Given the description of an element on the screen output the (x, y) to click on. 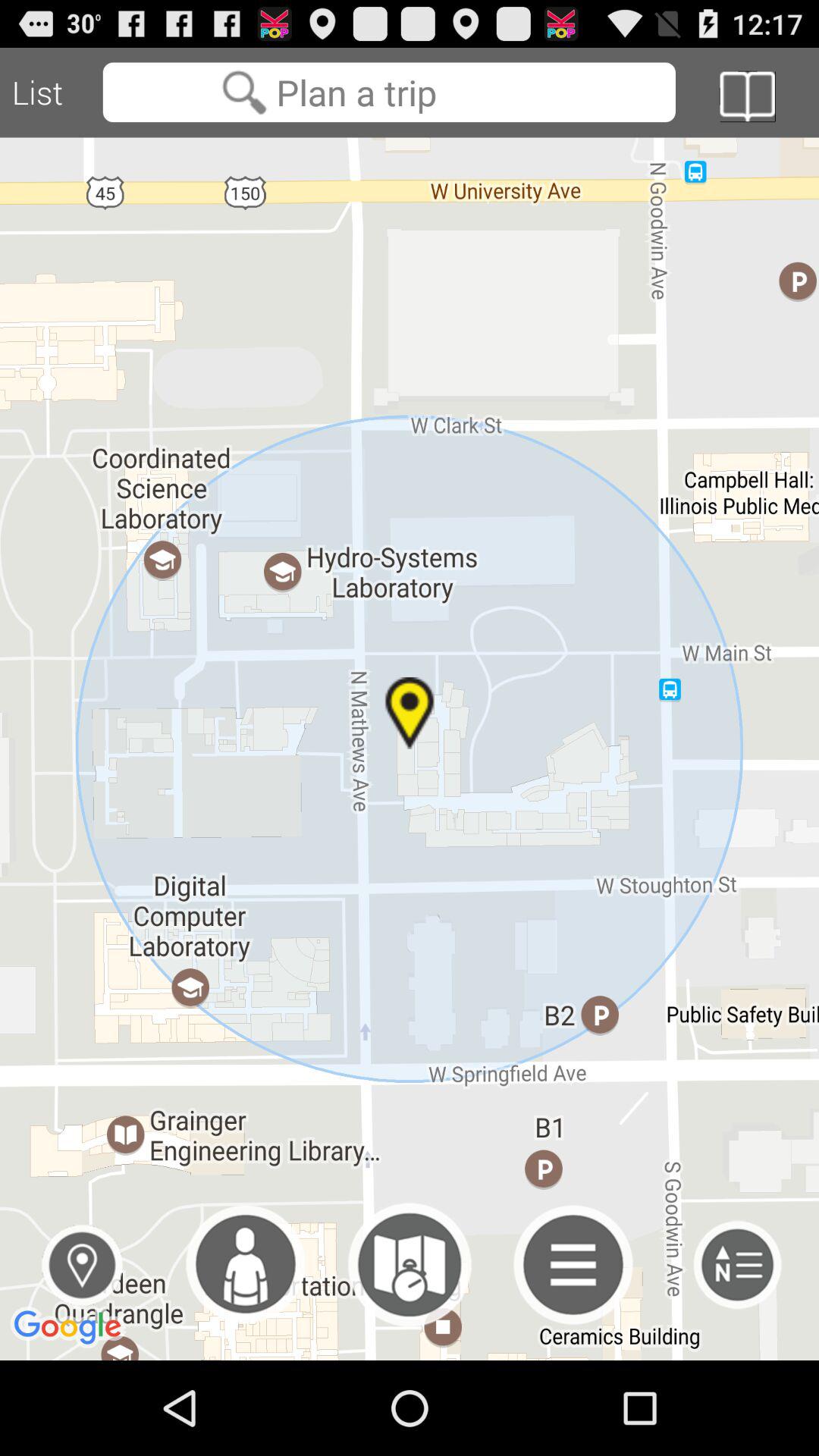
turn on the icon at the top left corner (51, 92)
